Given the description of an element on the screen output the (x, y) to click on. 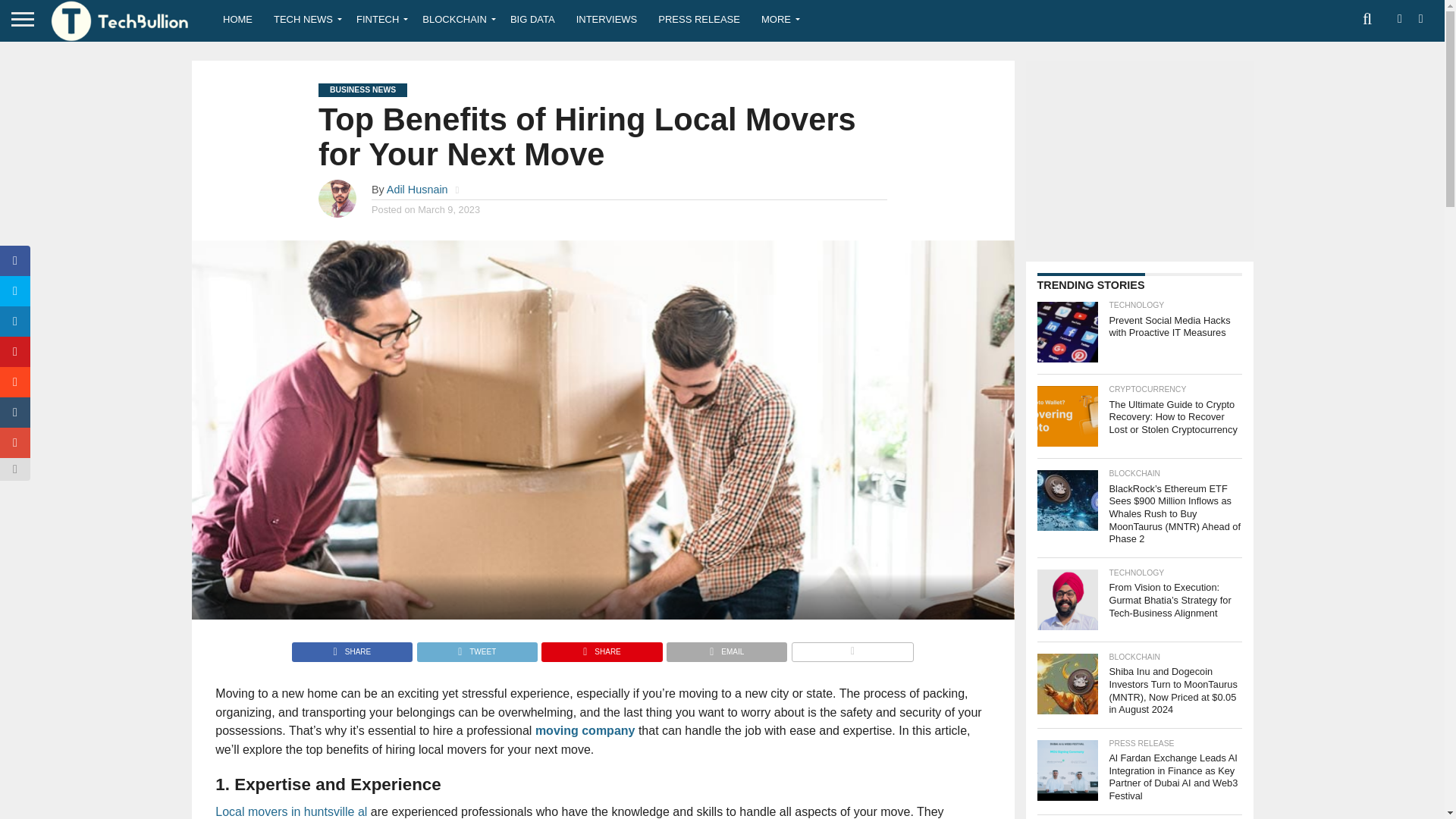
Share on Facebook (352, 647)
Tweet This Post (476, 647)
Posts by Adil Husnain (417, 189)
Pin This Post (601, 647)
